Given the description of an element on the screen output the (x, y) to click on. 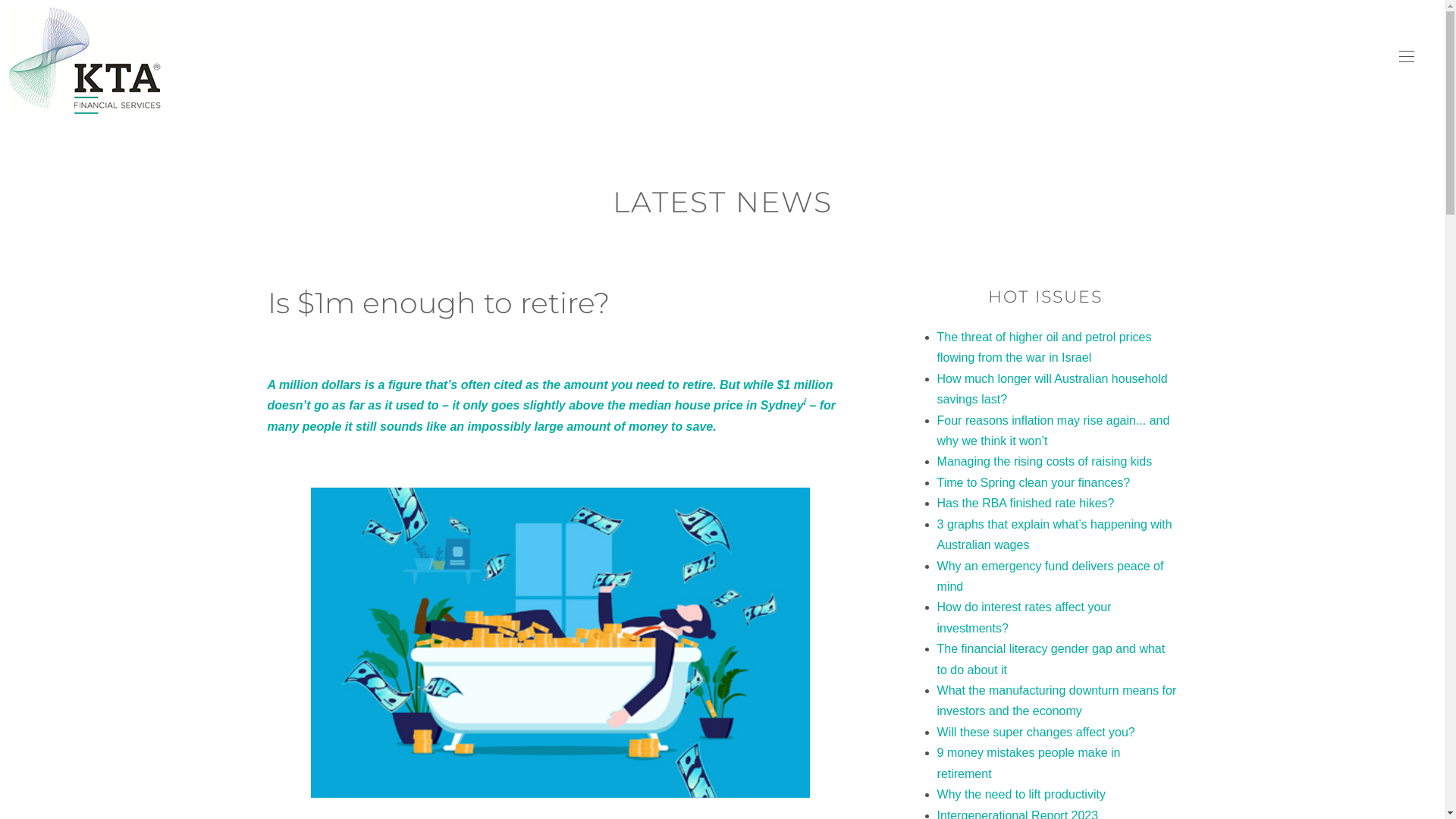
Will these super changes affect you? Element type: text (1036, 731)
Why the need to lift productivity Element type: text (1021, 793)
Why an emergency fund delivers peace of mind Element type: text (1050, 576)
9 money mistakes people make in retirement Element type: text (1028, 762)
Has the RBA finished rate hikes? Element type: text (1025, 502)
Time to Spring clean your finances? Element type: text (1033, 482)
The financial literacy gender gap and what to do about it Element type: text (1051, 658)
How much longer will Australian household savings last? Element type: text (1052, 388)
Managing the rising costs of raising kids Element type: text (1044, 461)
How do interest rates affect your investments? Element type: text (1024, 616)
